Given the description of an element on the screen output the (x, y) to click on. 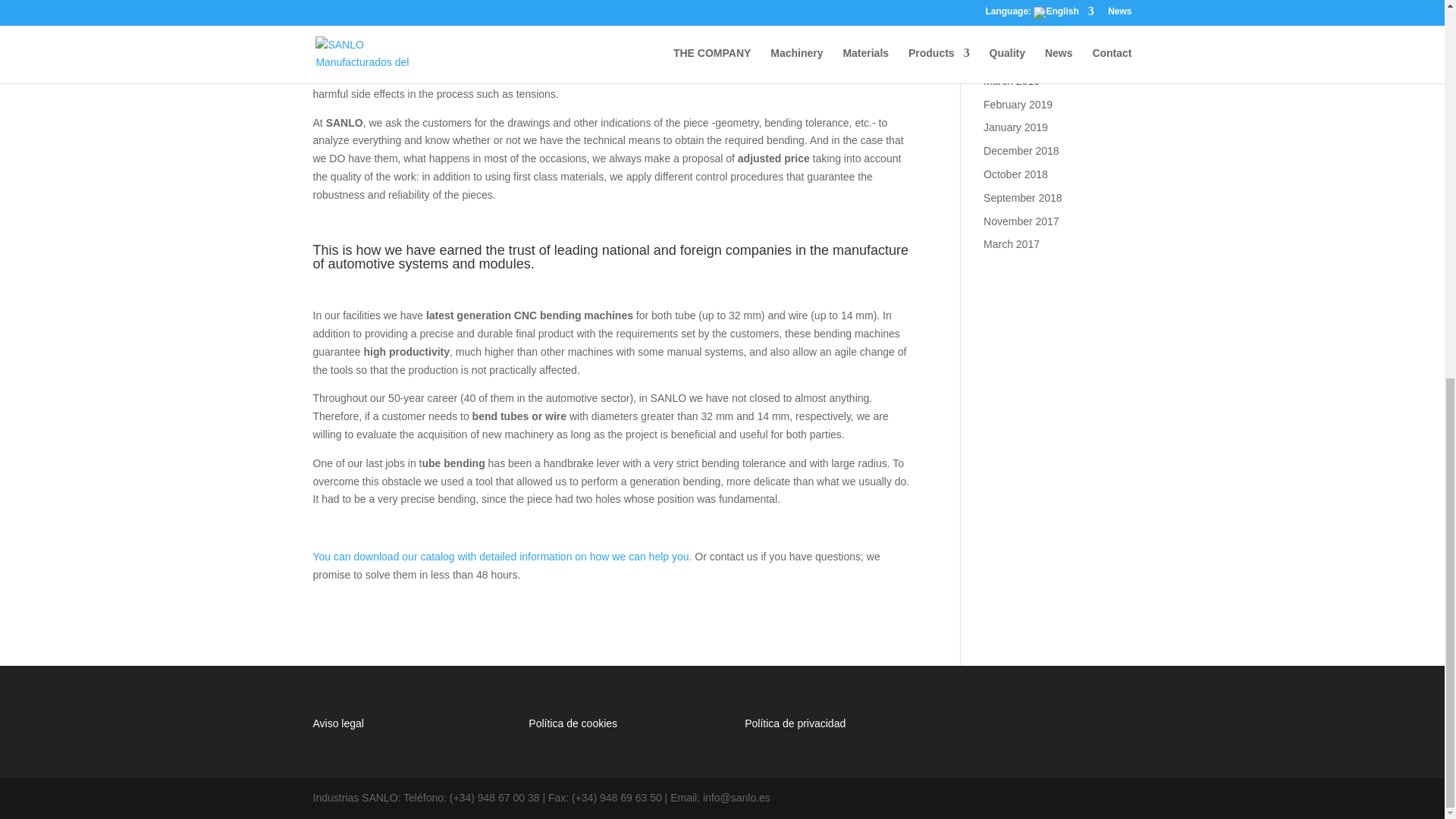
November 2017 (1021, 220)
January 2019 (1016, 127)
March 2017 (1011, 244)
March 2019 (1011, 80)
October 2018 (1016, 174)
April 2019 (1007, 57)
February 2019 (1018, 104)
December 2018 (1021, 150)
October 2020 (1016, 10)
